Given the description of an element on the screen output the (x, y) to click on. 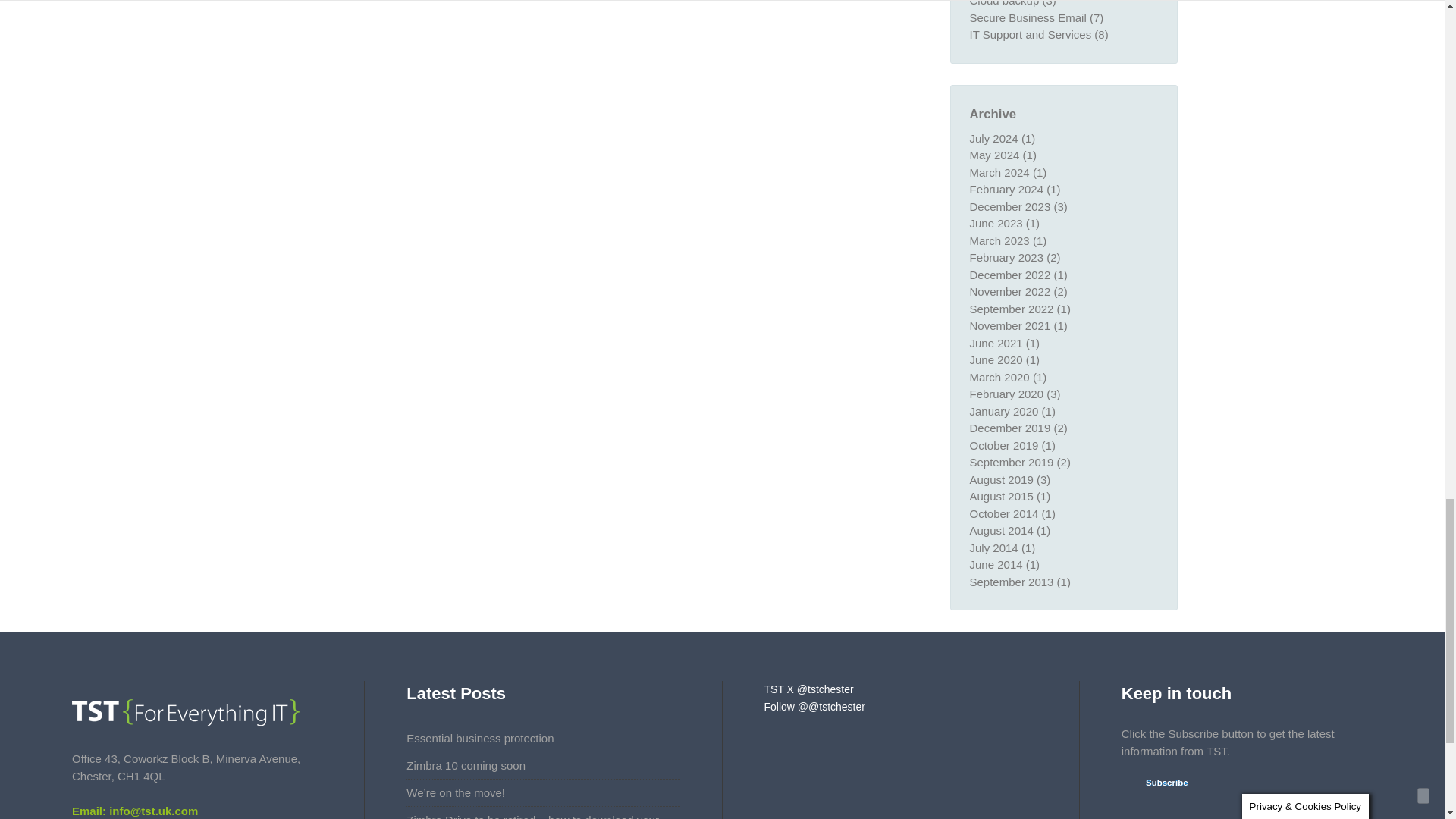
Preview (1157, 782)
